Given the description of an element on the screen output the (x, y) to click on. 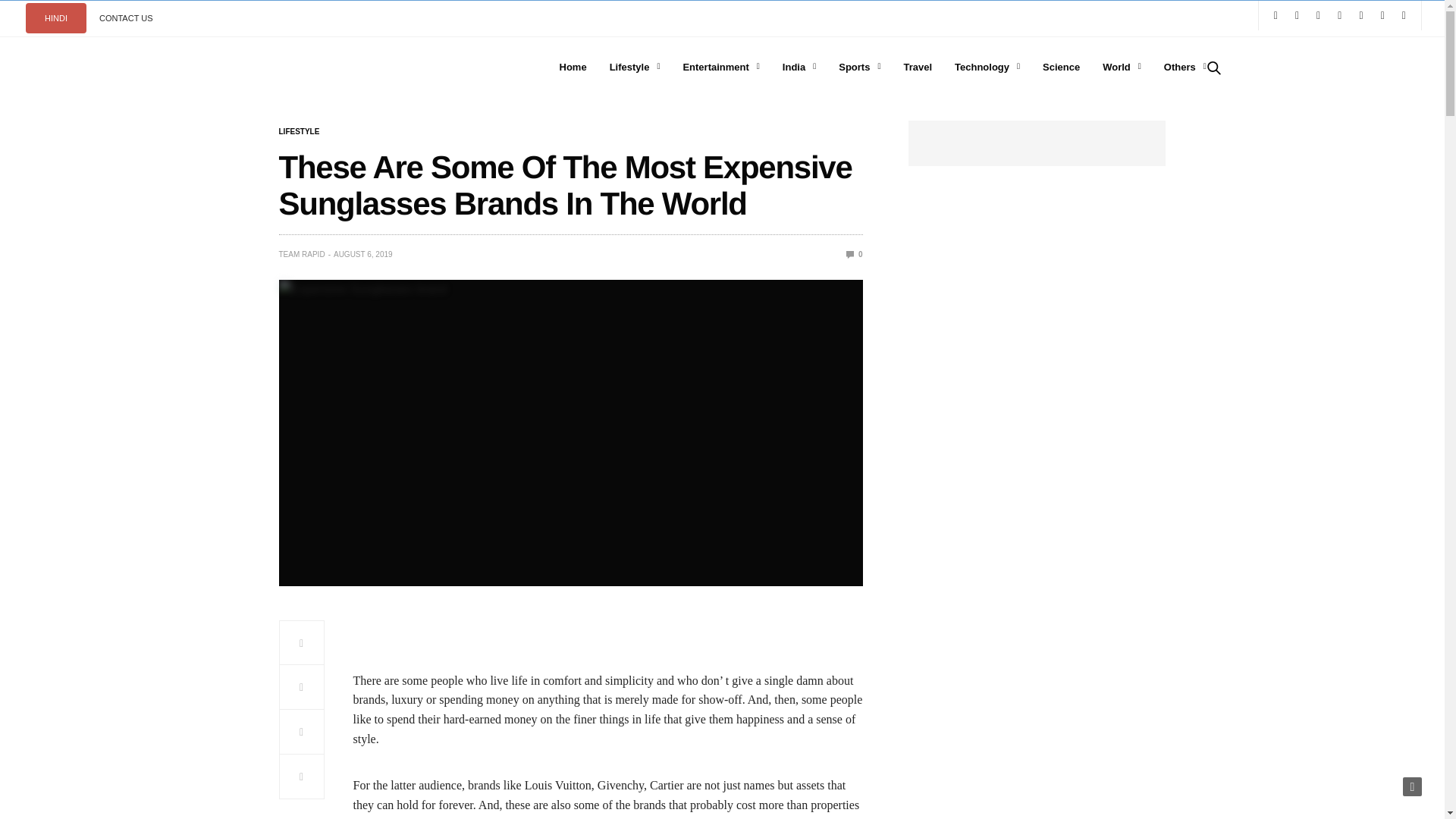
Posts by Team Rapid (301, 254)
Lifestyle (635, 67)
HINDI (55, 18)
Home (572, 67)
Lifestyle (299, 131)
India (799, 67)
Entertainment (720, 67)
Sports (859, 67)
CONTACT US (125, 18)
